Given the description of an element on the screen output the (x, y) to click on. 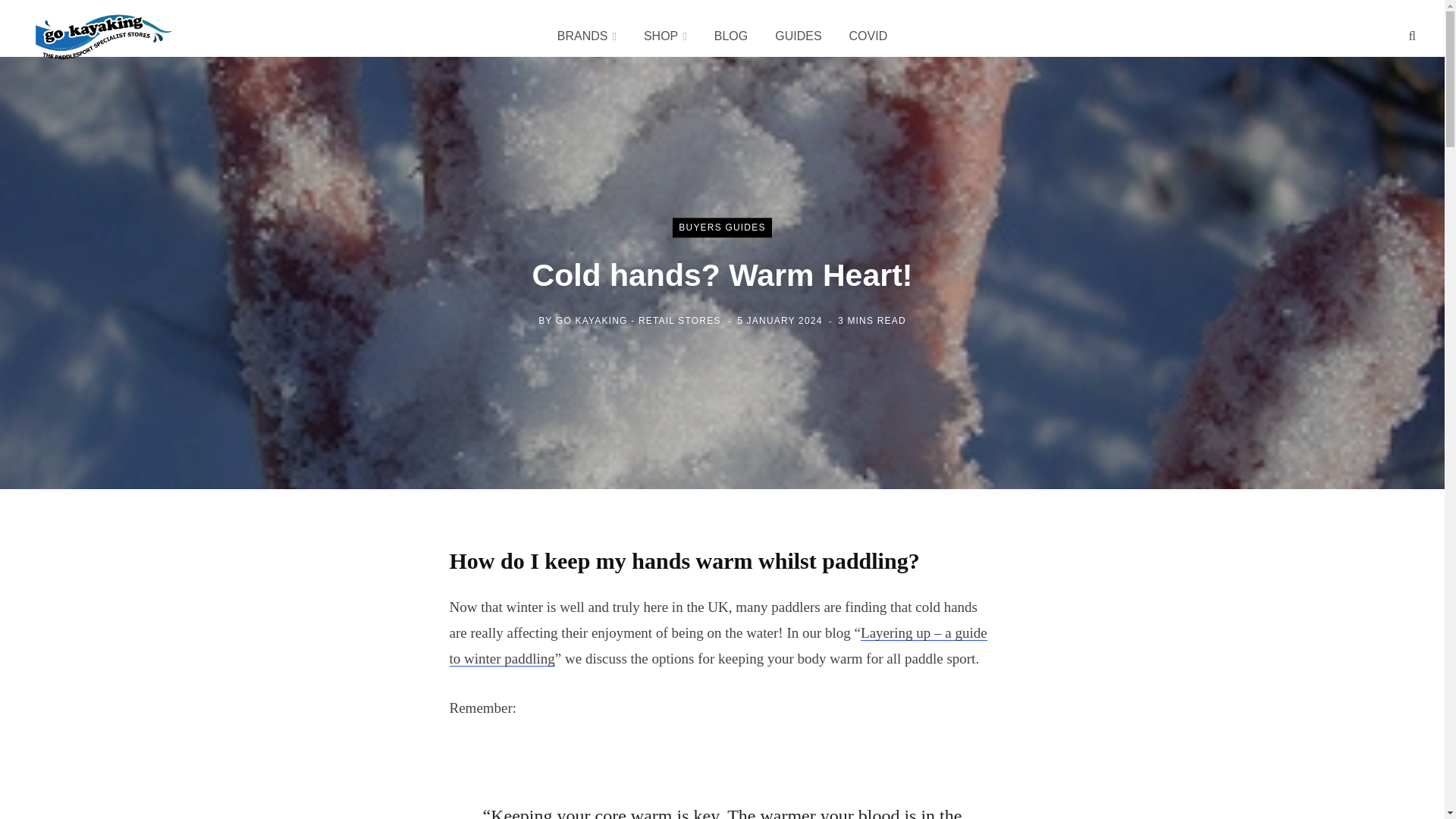
BRANDS (586, 36)
GUIDES (797, 36)
GO KAYAKING - RETAIL STORES (638, 321)
BUYERS GUIDES (721, 227)
Go Kayaking North West Blog (104, 36)
Posts by Go Kayaking - Retail Stores (638, 321)
SHOP (665, 36)
COVID (868, 36)
